Given the description of an element on the screen output the (x, y) to click on. 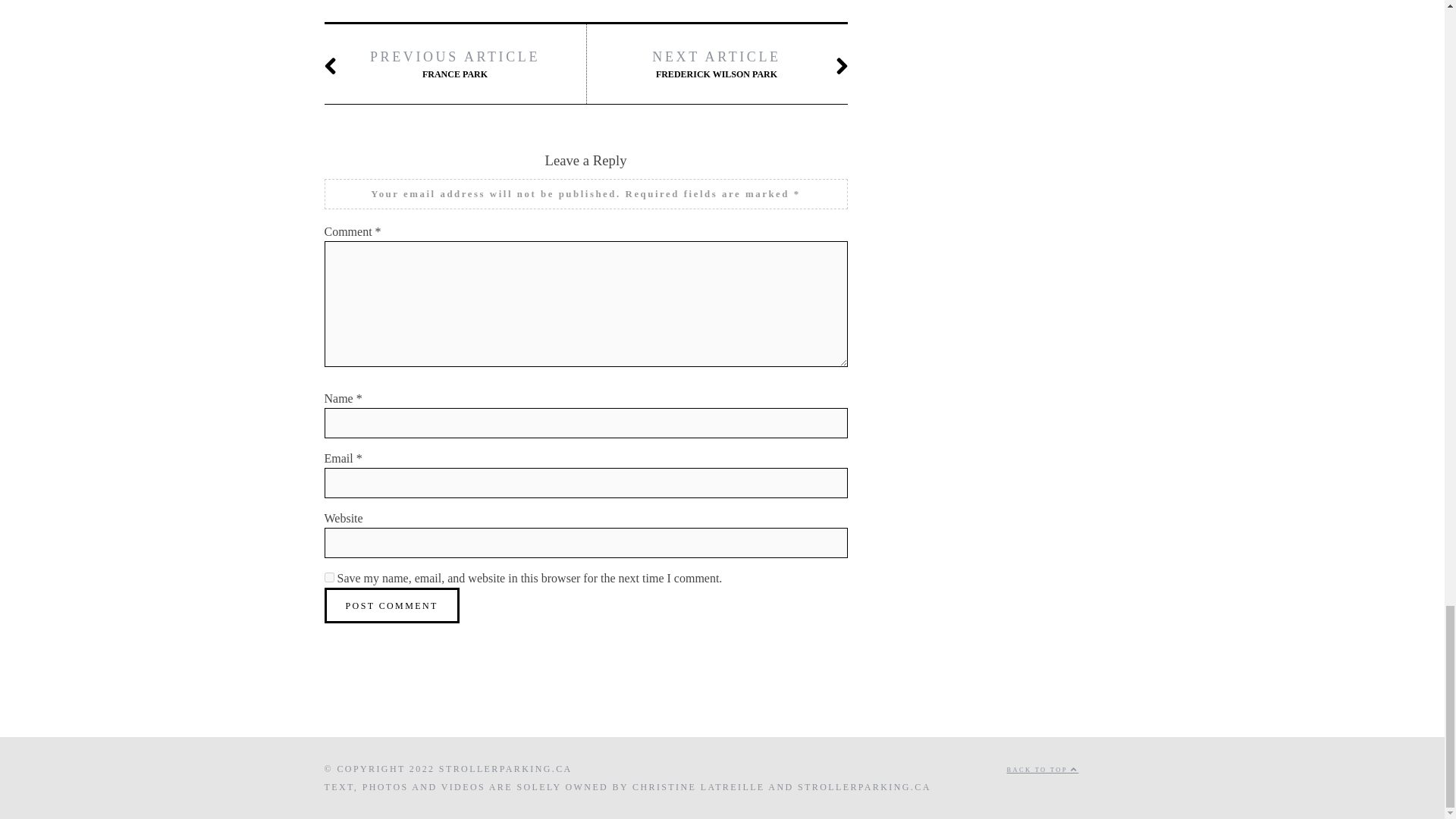
Post Comment (392, 605)
yes (329, 577)
